Given the description of an element on the screen output the (x, y) to click on. 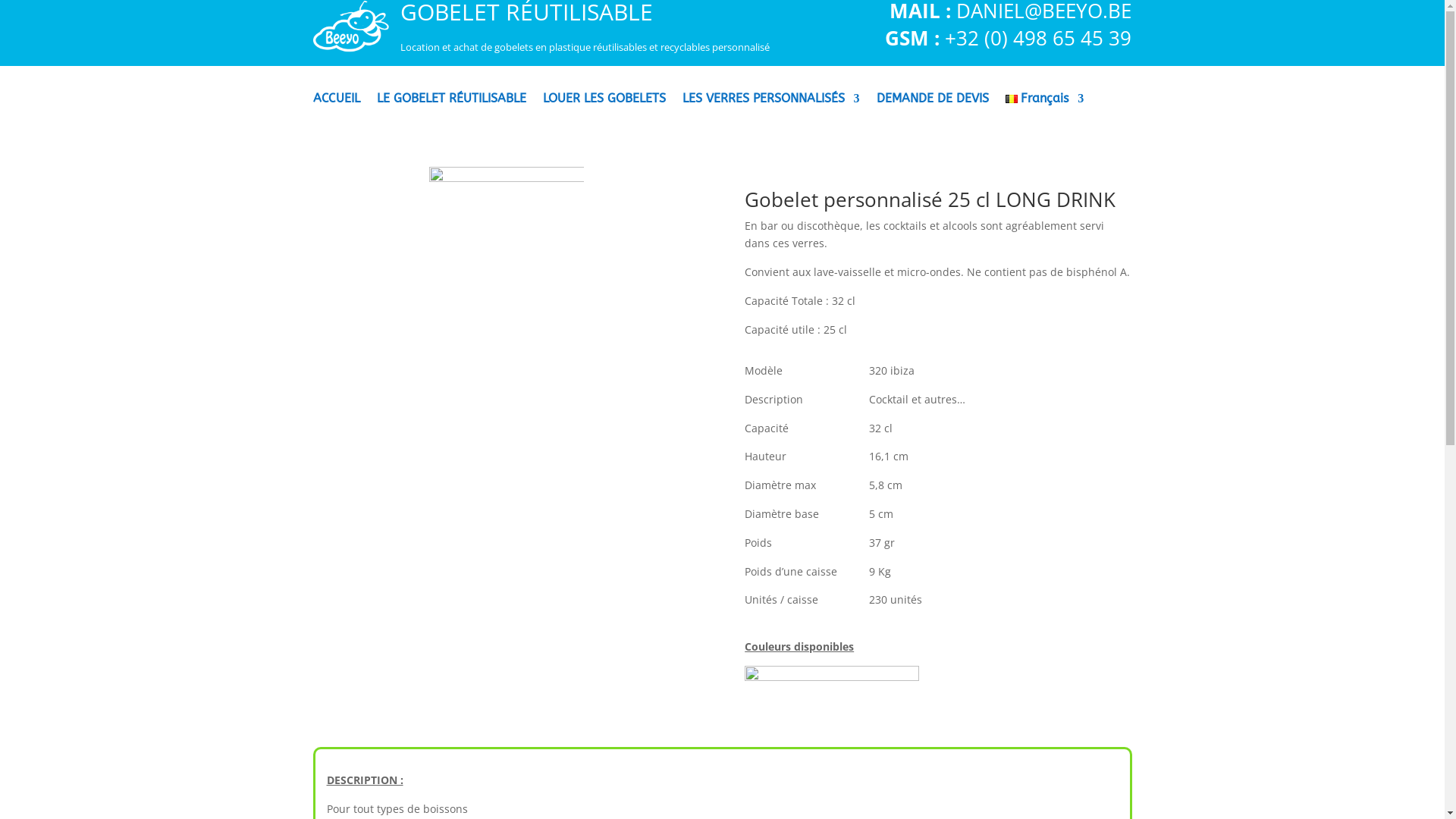
ACCUEIL Element type: text (335, 109)
DEMANDE DE DEVIS Element type: text (932, 109)
LOUER LES GOBELETS Element type: text (603, 109)
+32 (0) 498 65 45 39 Element type: text (1037, 37)
